Given the description of an element on the screen output the (x, y) to click on. 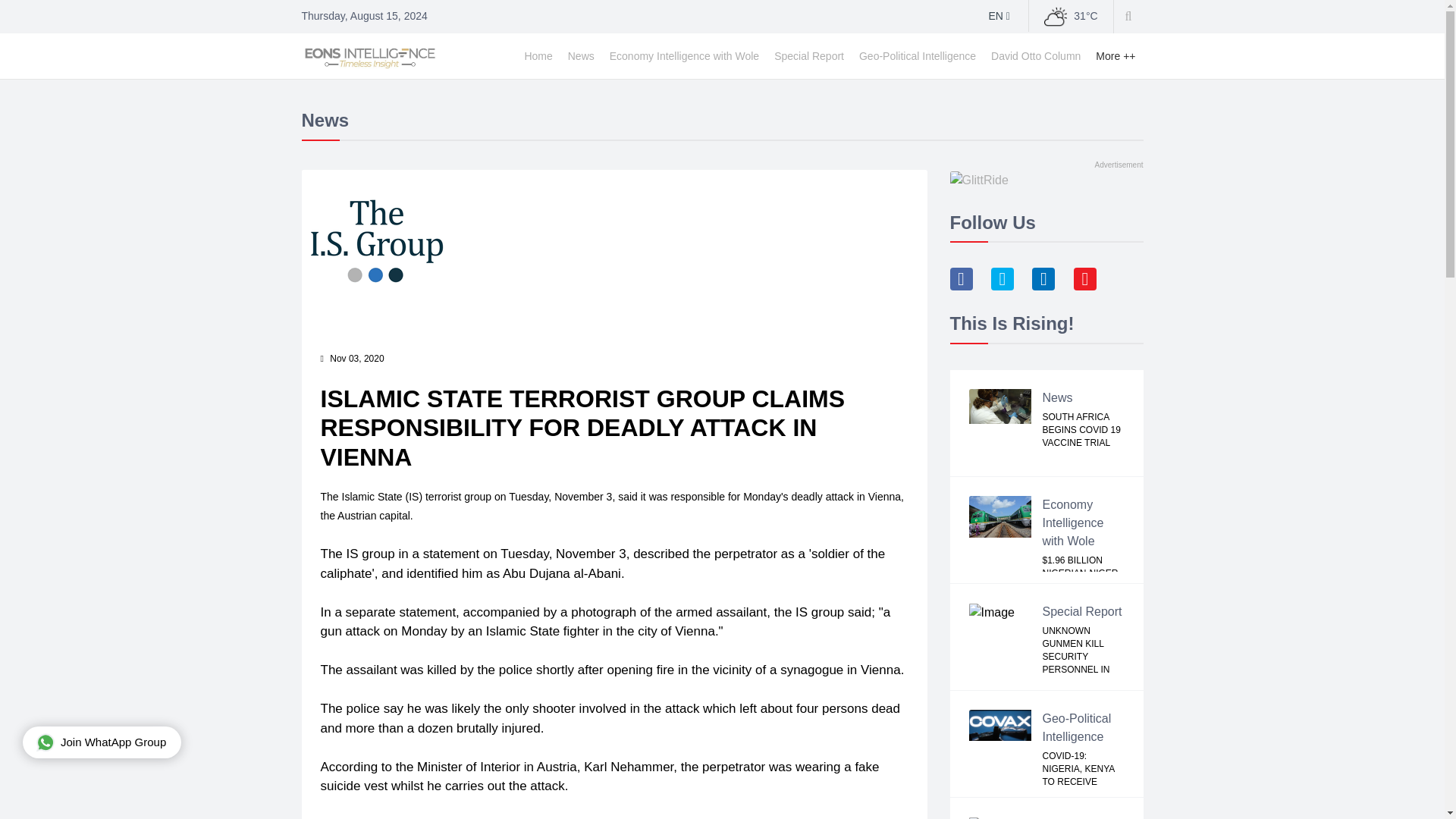
Special Report (809, 55)
Home (537, 55)
Geo-Political Intelligence (917, 55)
Nov 03, 2020 (357, 357)
David Otto Column (1035, 55)
EN (999, 15)
News (1056, 397)
Economy Intelligence with Wole (1072, 522)
Show Chat (101, 742)
Economy Intelligence with Wole (684, 55)
